Given the description of an element on the screen output the (x, y) to click on. 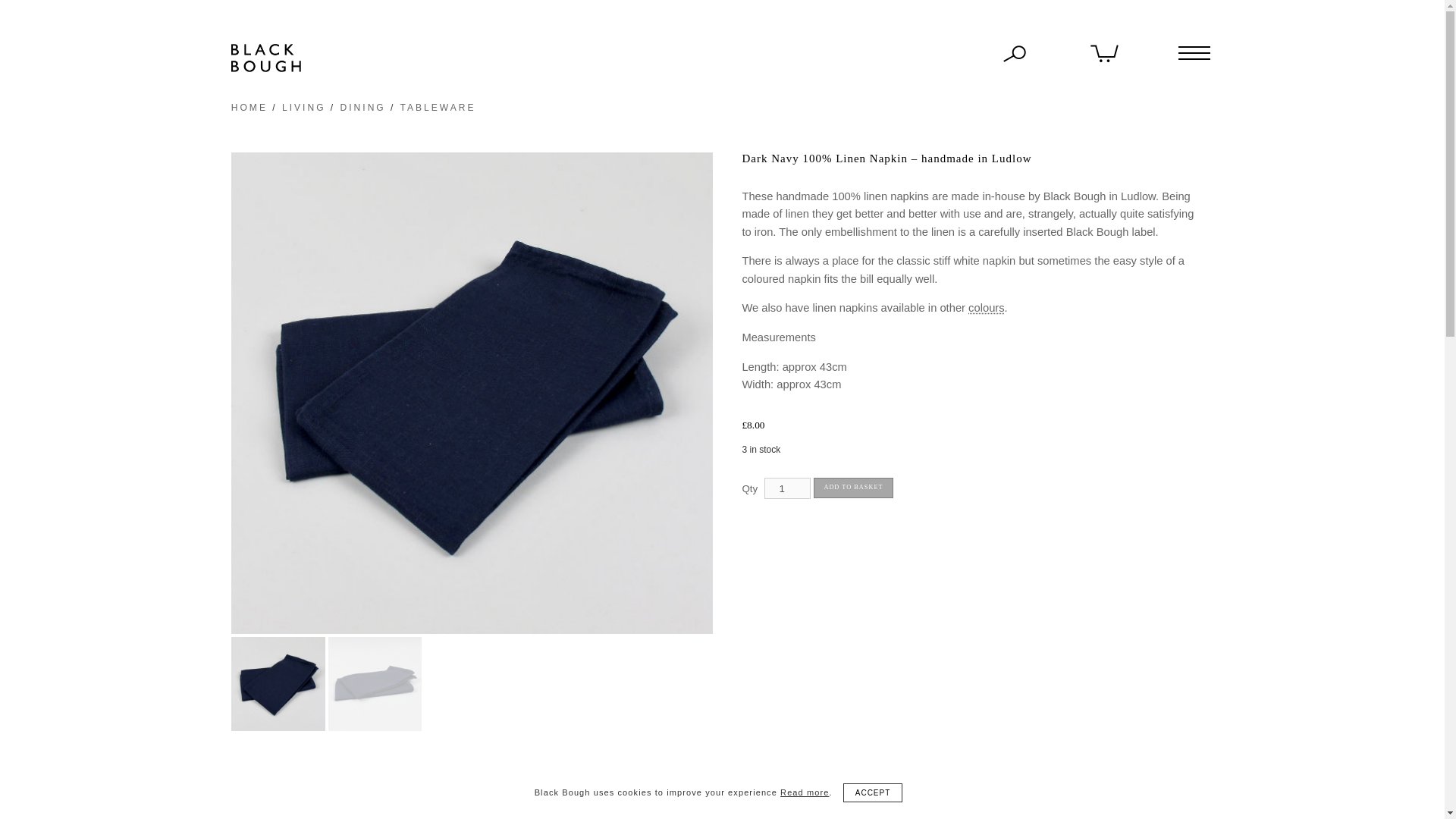
dark navy linen napkins 03 (277, 684)
1 (787, 487)
View your shopping basket (1104, 52)
dark navy linen napkins 01 (375, 684)
